Given the description of an element on the screen output the (x, y) to click on. 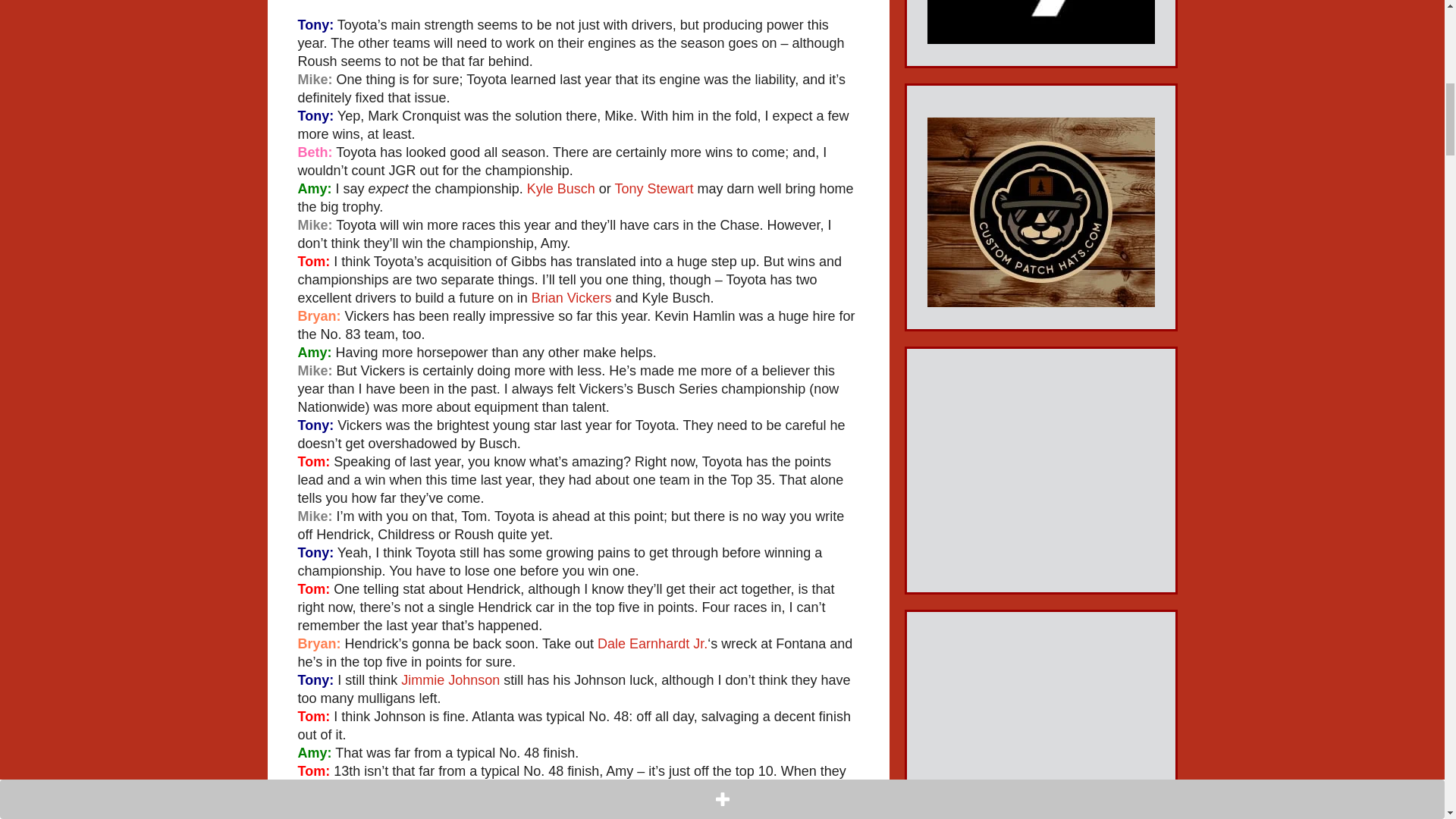
Dale Earnhardt Jr. (651, 643)
Scroll back to top (1406, 720)
Kyle Busch (561, 188)
Jimmie Johnson (450, 679)
Tony Stewart (653, 188)
Brian Vickers (571, 297)
